Given the description of an element on the screen output the (x, y) to click on. 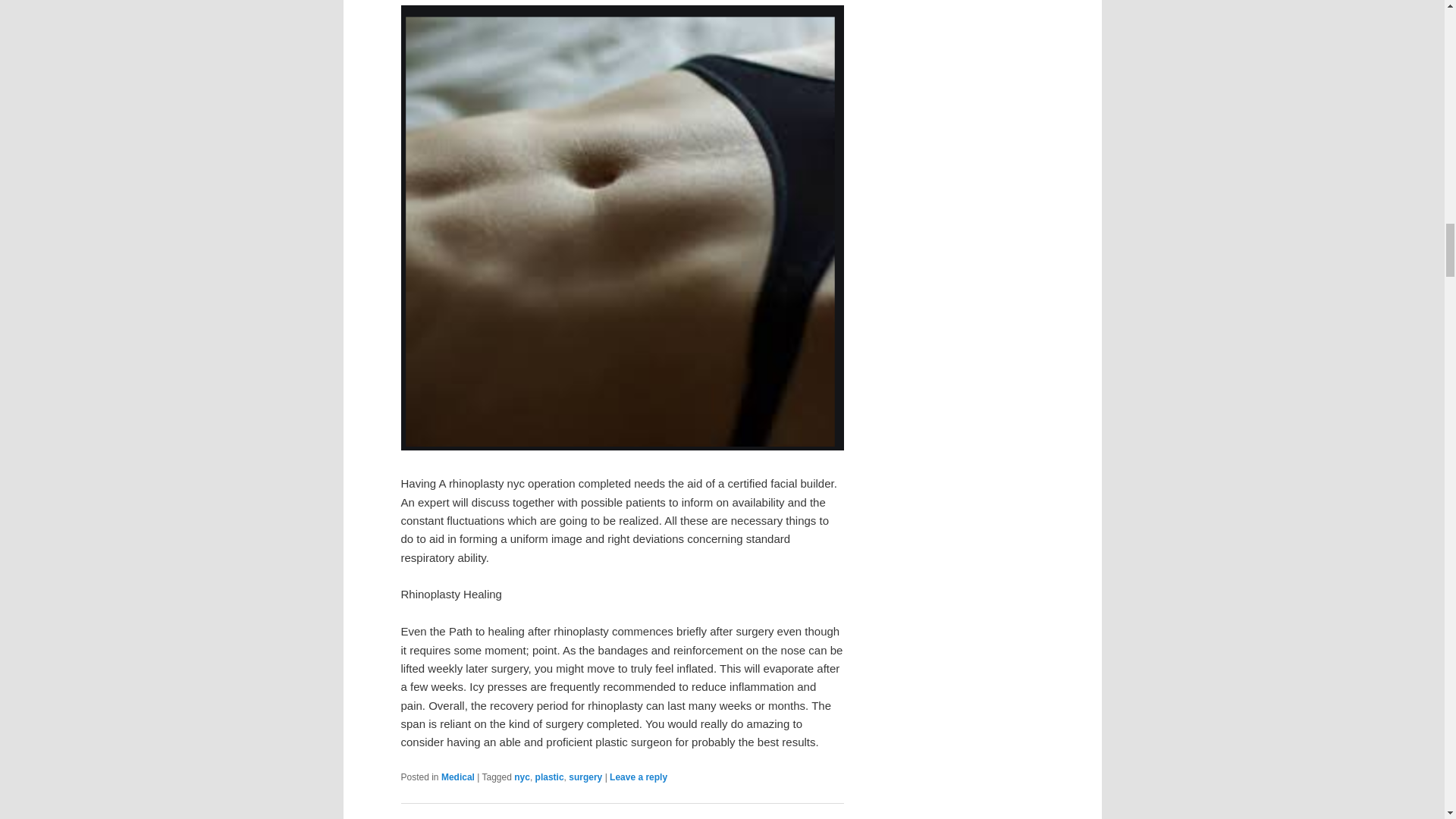
Medical (457, 777)
Leave a reply (638, 777)
nyc (521, 777)
surgery (585, 777)
plastic (549, 777)
